Given the description of an element on the screen output the (x, y) to click on. 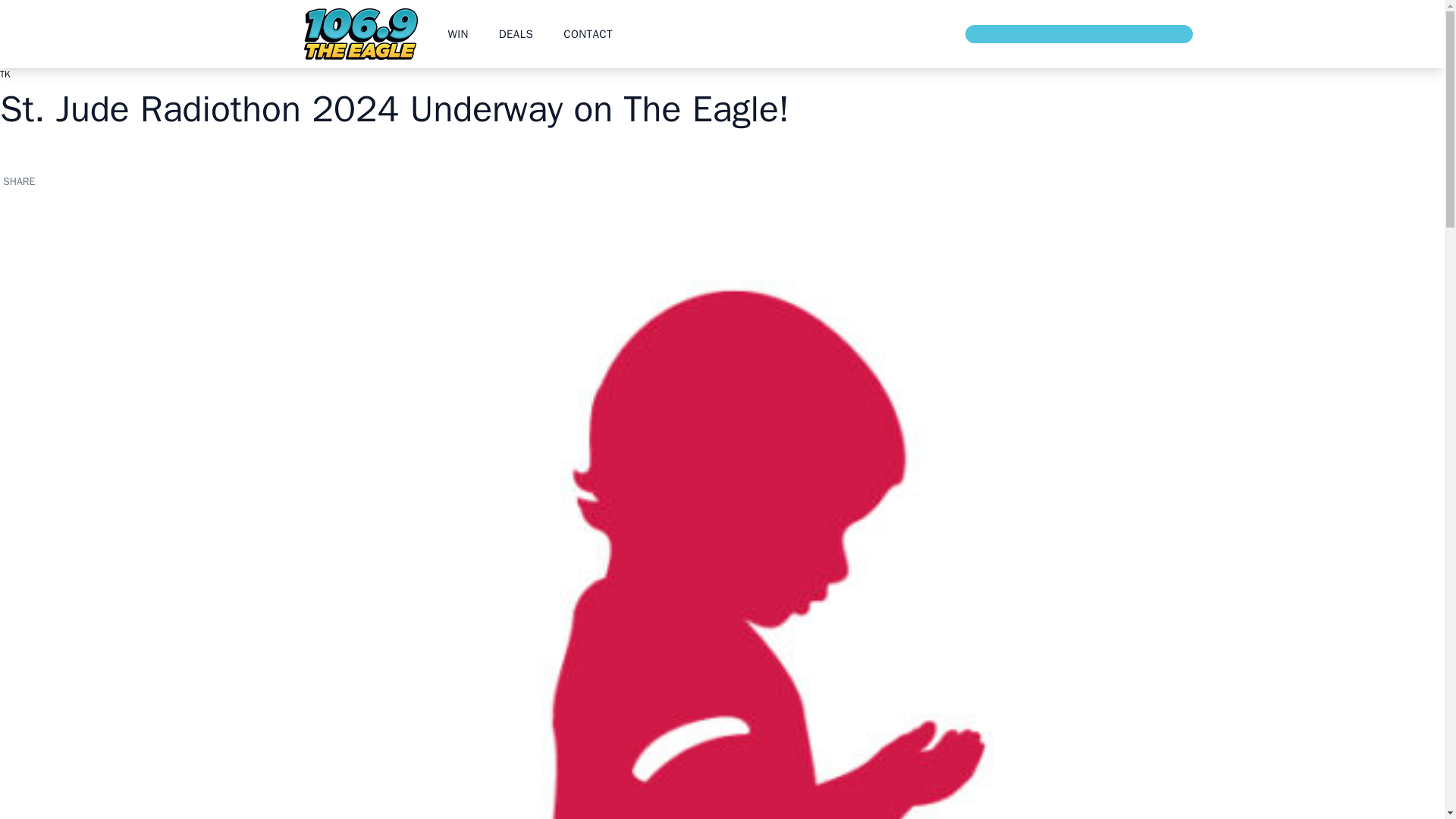
106.9 The Eagle (359, 33)
